Given the description of an element on the screen output the (x, y) to click on. 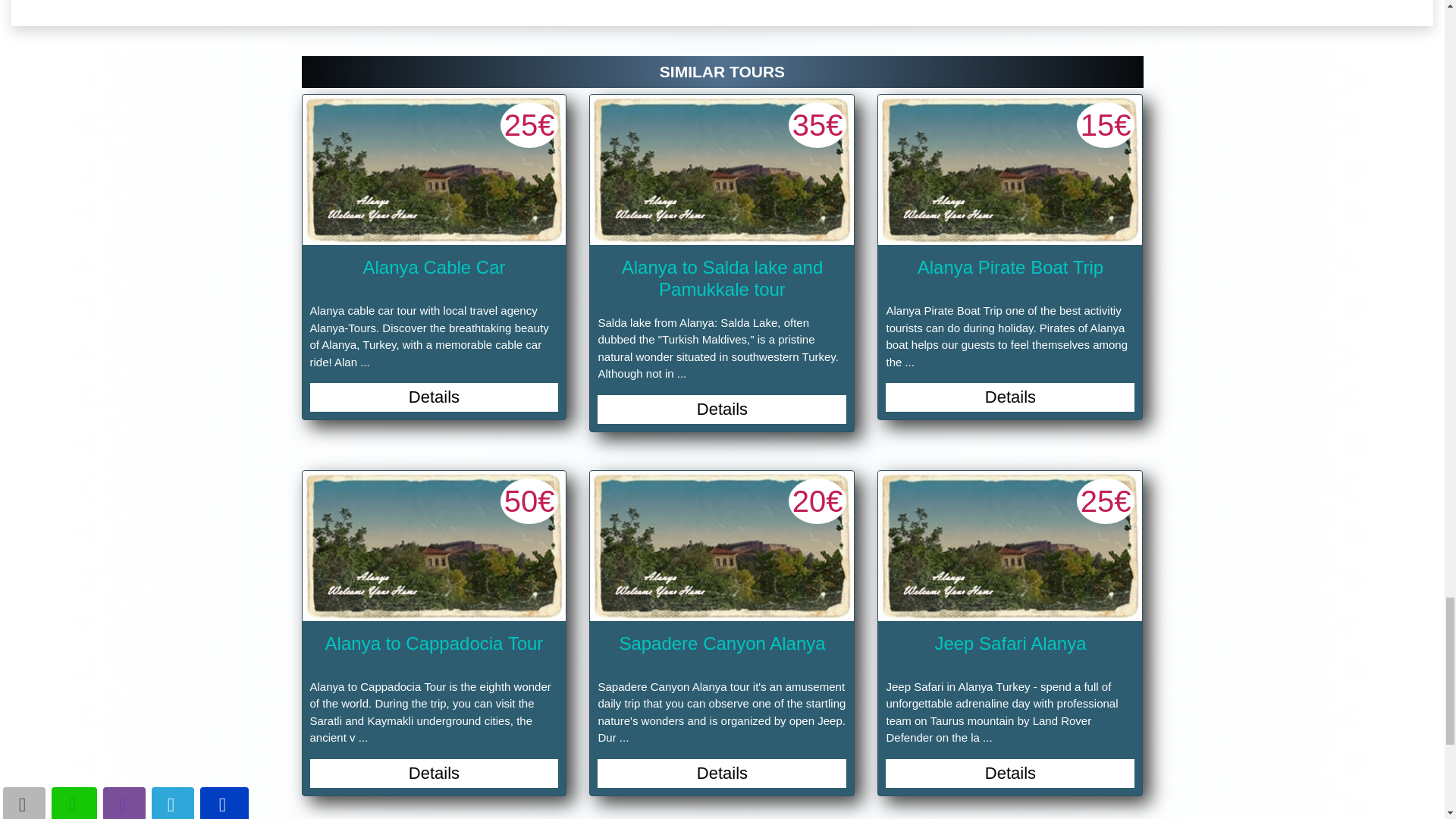
Alanya Pirate Boat Trip (1009, 169)
Jeep Safari Alanya (1009, 545)
Alanya to Cappadocia Tour (433, 545)
Alanya Cable Car (433, 169)
Sapadere Canyon Alanya (721, 545)
Alanya to Salda lake and Pamukkale tour (721, 169)
